Given the description of an element on the screen output the (x, y) to click on. 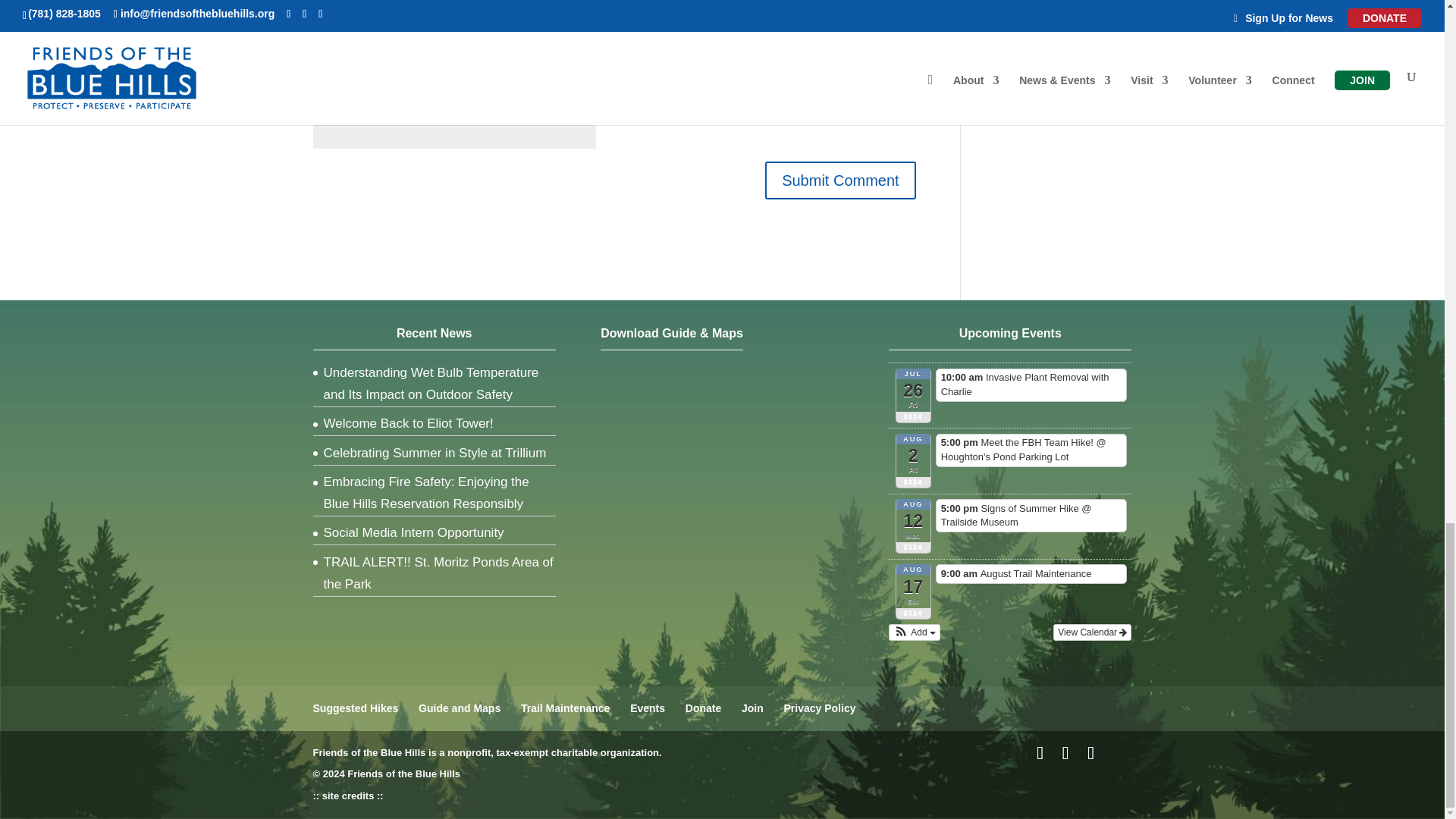
Submit Comment (840, 180)
